Given the description of an element on the screen output the (x, y) to click on. 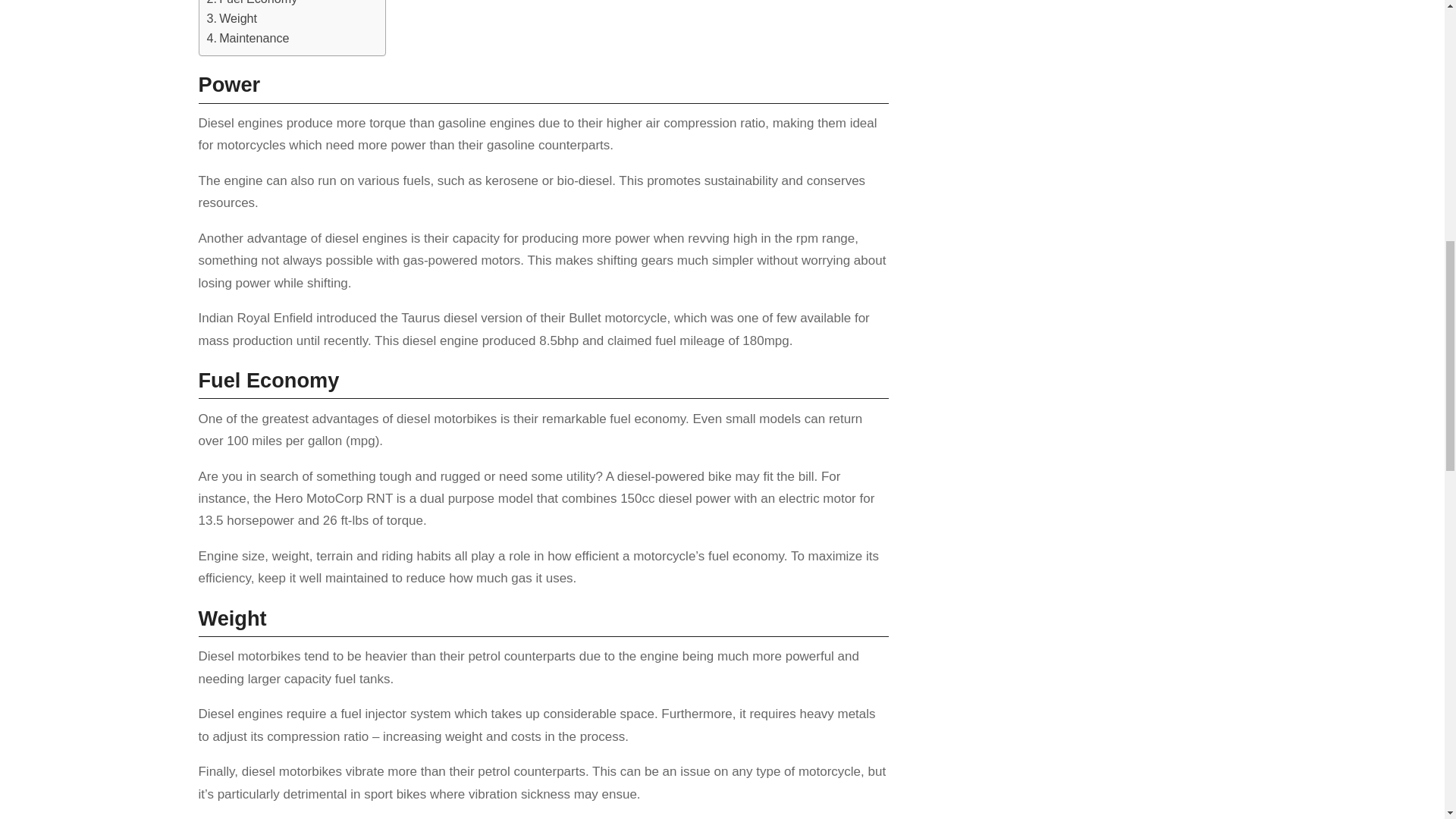
Weight (231, 18)
Fuel Economy (251, 4)
Maintenance (247, 38)
